Given the description of an element on the screen output the (x, y) to click on. 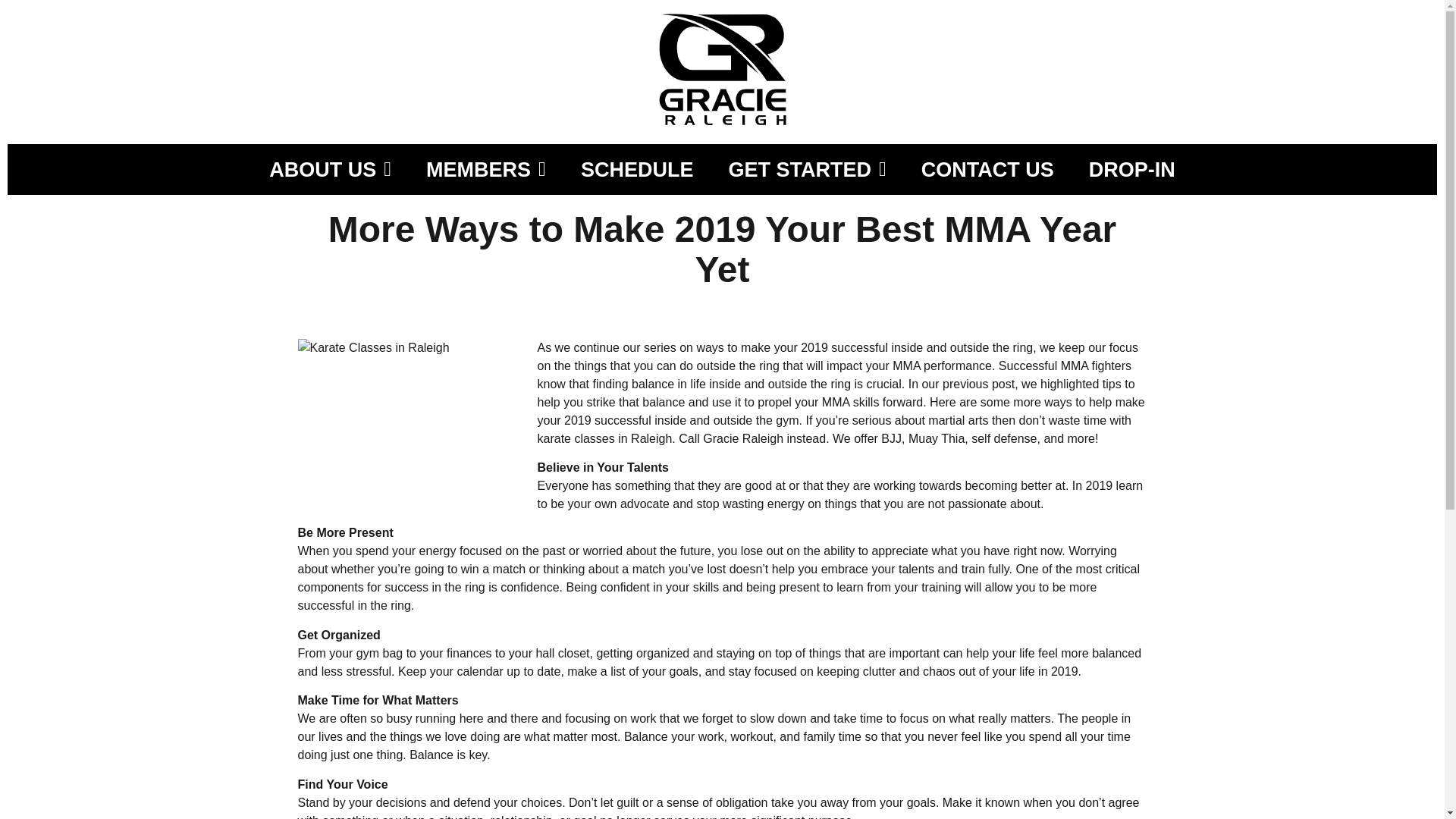
ABOUT US (329, 169)
2019 successful inside and outside the ring (916, 347)
SCHEDULE (637, 169)
MEMBERS (485, 169)
DROP-IN (1132, 169)
CONTACT US (986, 169)
GET STARTED (807, 169)
